Given the description of an element on the screen output the (x, y) to click on. 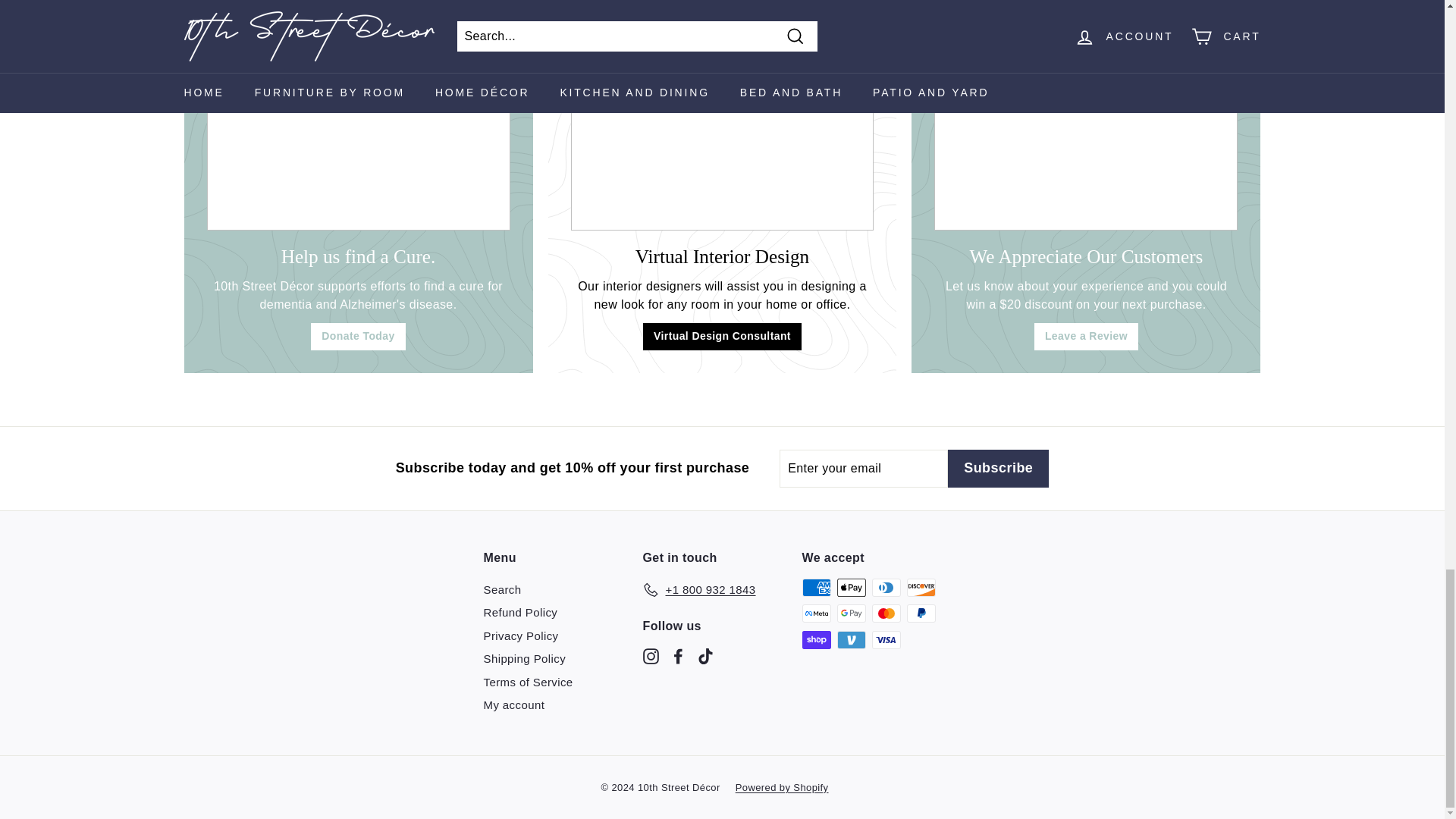
American Express (816, 587)
Apple Pay (851, 587)
Diners Club (886, 587)
Discover (921, 587)
